Given the description of an element on the screen output the (x, y) to click on. 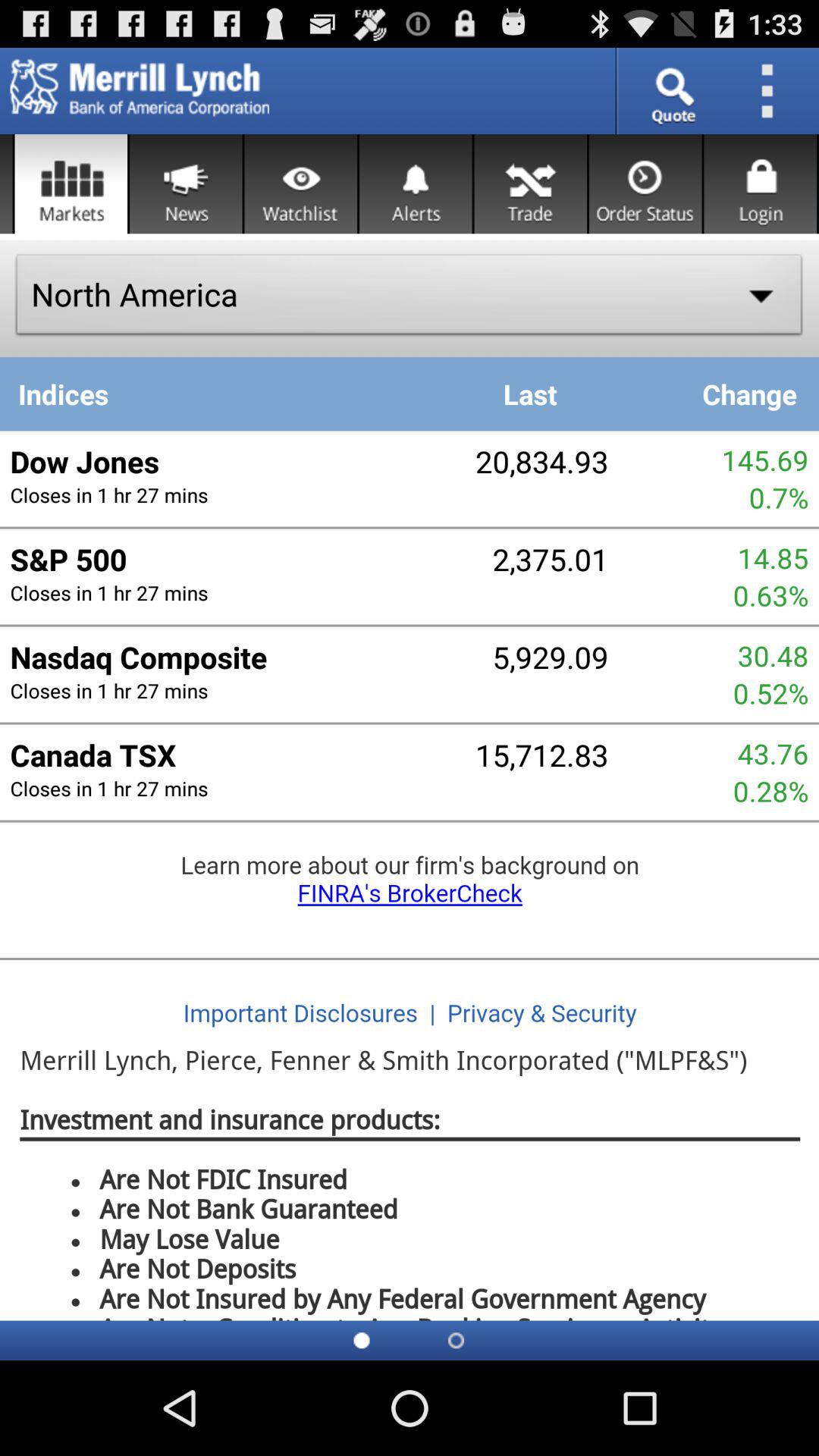
settings (772, 90)
